Given the description of an element on the screen output the (x, y) to click on. 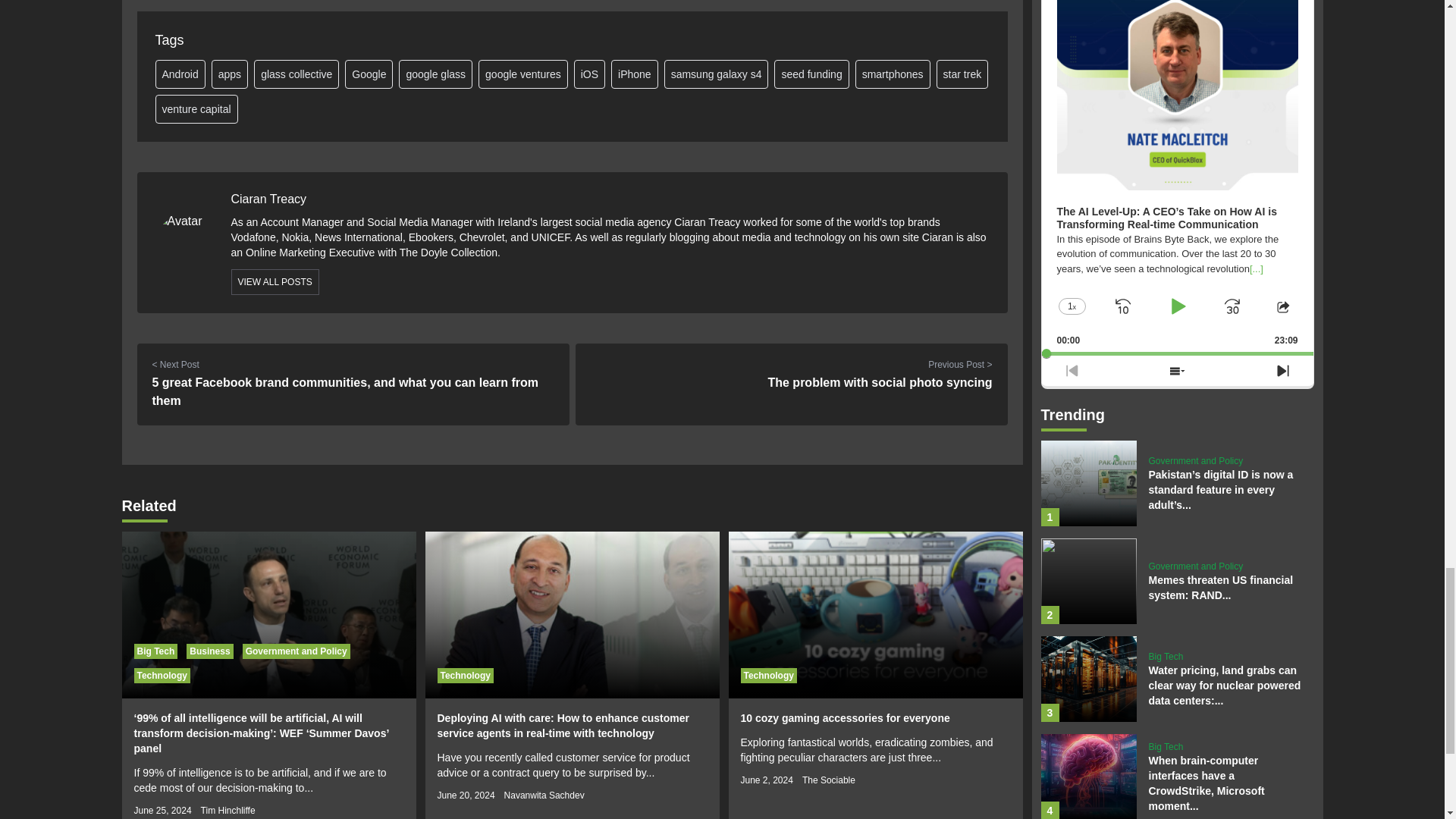
Android (179, 73)
google glass (434, 73)
google ventures (523, 73)
iOS (589, 73)
apps (229, 73)
glass collective (296, 73)
Google (369, 73)
